Given the description of an element on the screen output the (x, y) to click on. 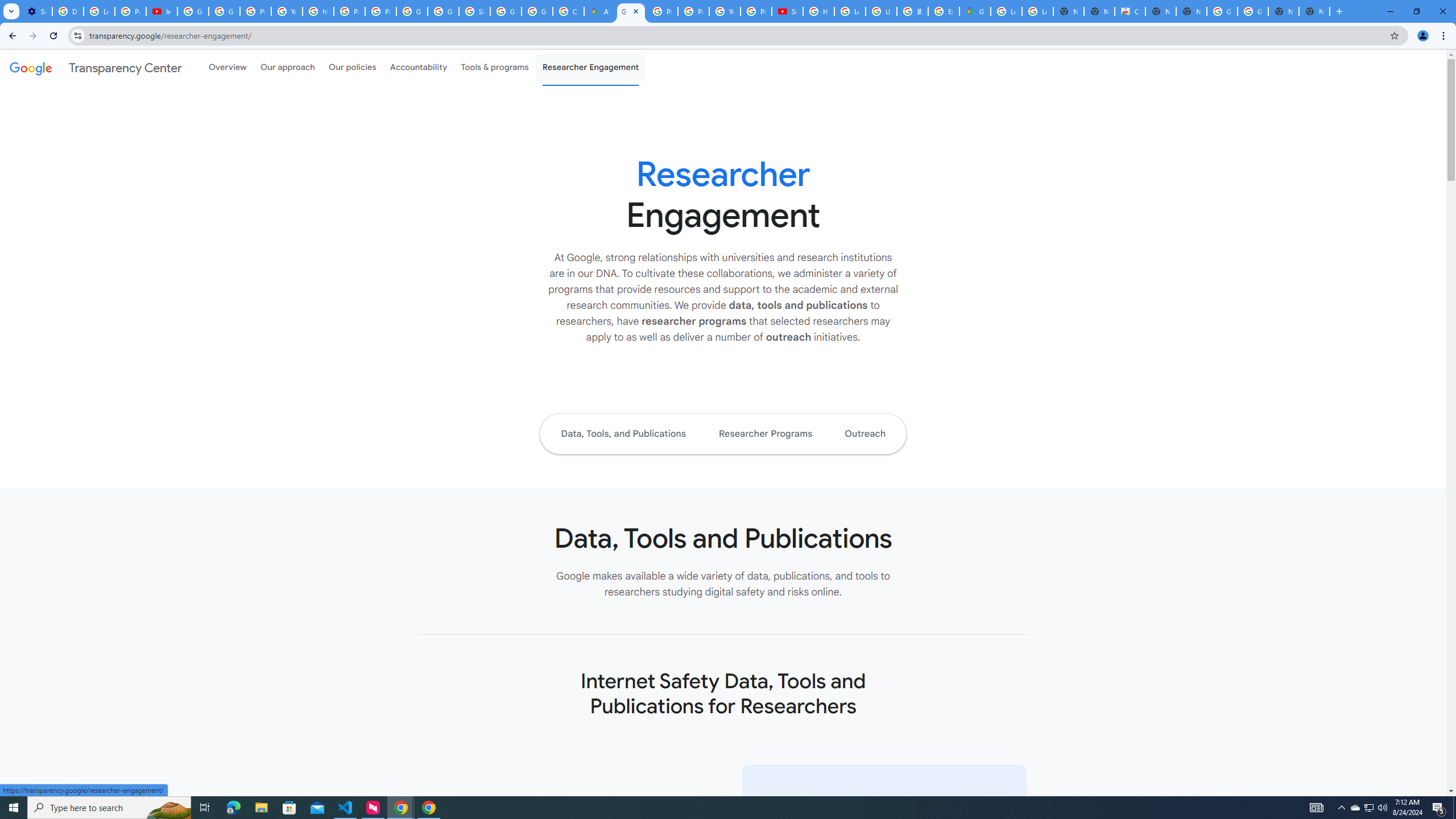
Transparency Center (95, 67)
Privacy Help Center - Policies Help (662, 11)
Accountability (418, 67)
Google Maps (974, 11)
Delete photos & videos - Computer - Google Photos Help (67, 11)
Google Images (1252, 11)
Google Account Help (192, 11)
Researcher Engagement (590, 67)
Settings - Performance (36, 11)
Outreach (865, 433)
